Given the description of an element on the screen output the (x, y) to click on. 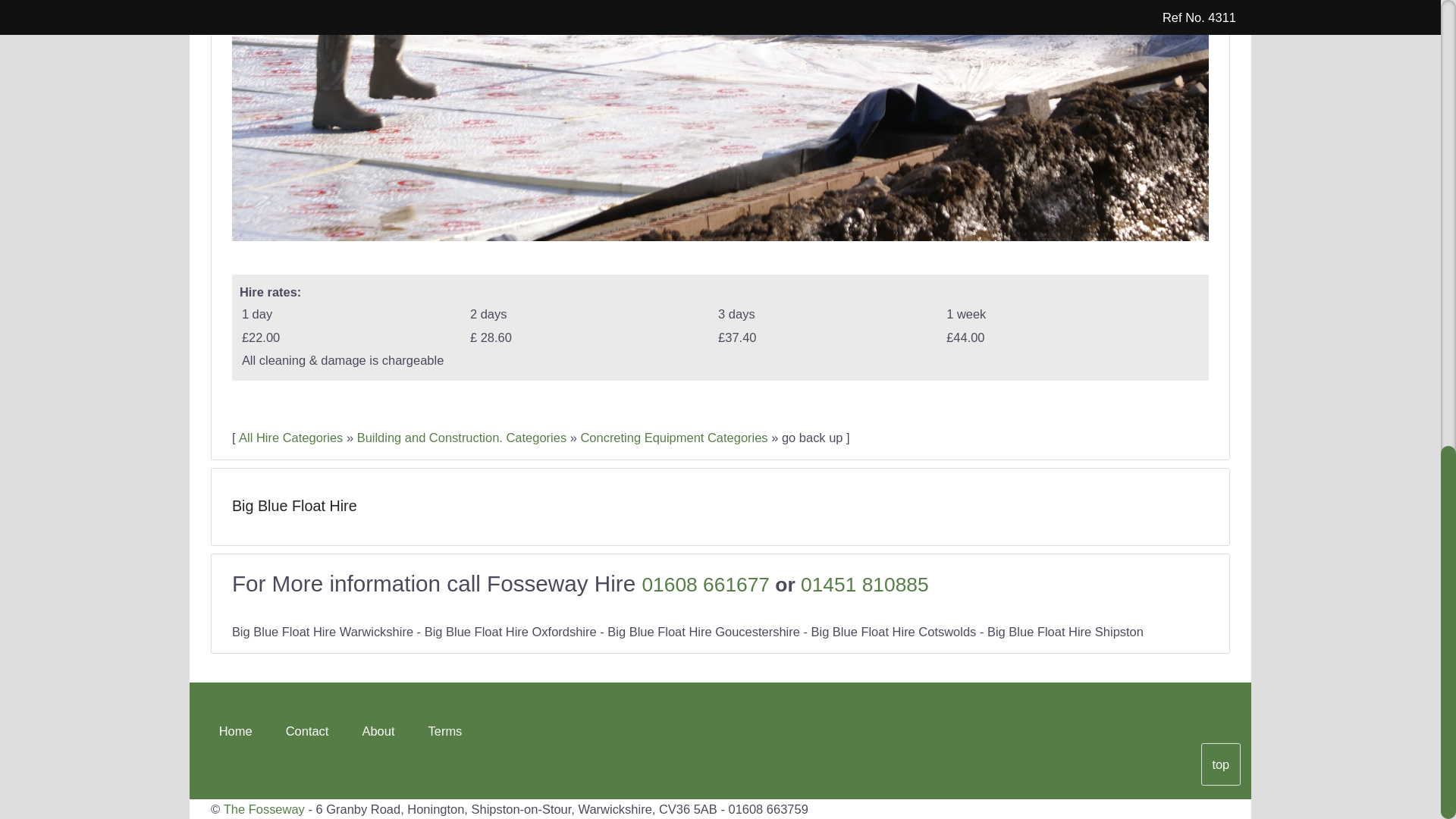
Contact (307, 730)
All Hire Categories (290, 437)
Terms (444, 730)
The Fosseway (264, 808)
Concreting Equipment Categories (673, 437)
01608 661677 (706, 584)
Home (235, 730)
01451 810885 (864, 584)
Concreting Equipment Categories (673, 437)
All Hire Categories (290, 437)
